Given the description of an element on the screen output the (x, y) to click on. 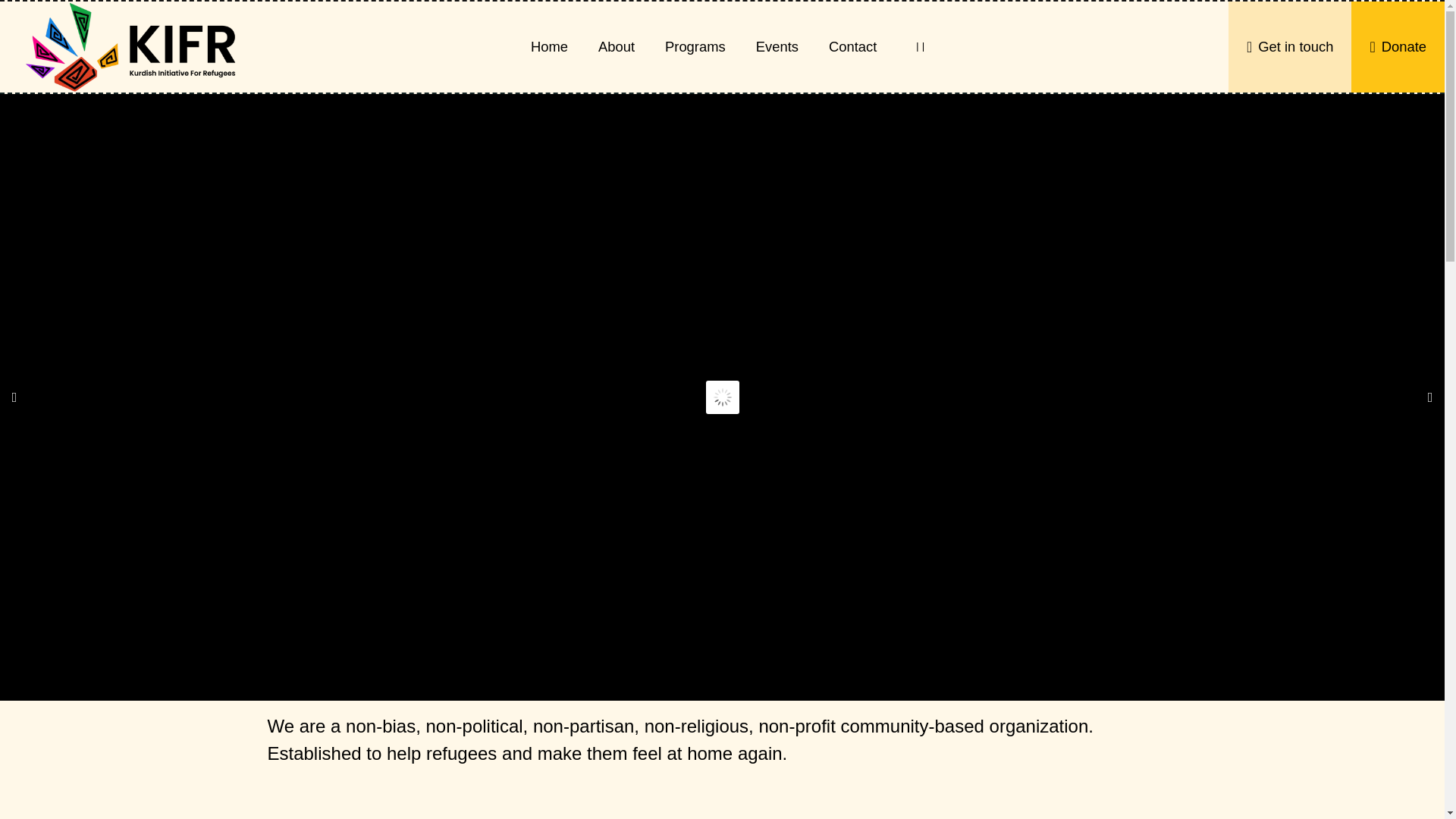
About (616, 46)
Contact (852, 46)
Events (777, 46)
Home (548, 46)
Donate (1397, 46)
Programs (695, 46)
Get in touch (1289, 46)
